Given the description of an element on the screen output the (x, y) to click on. 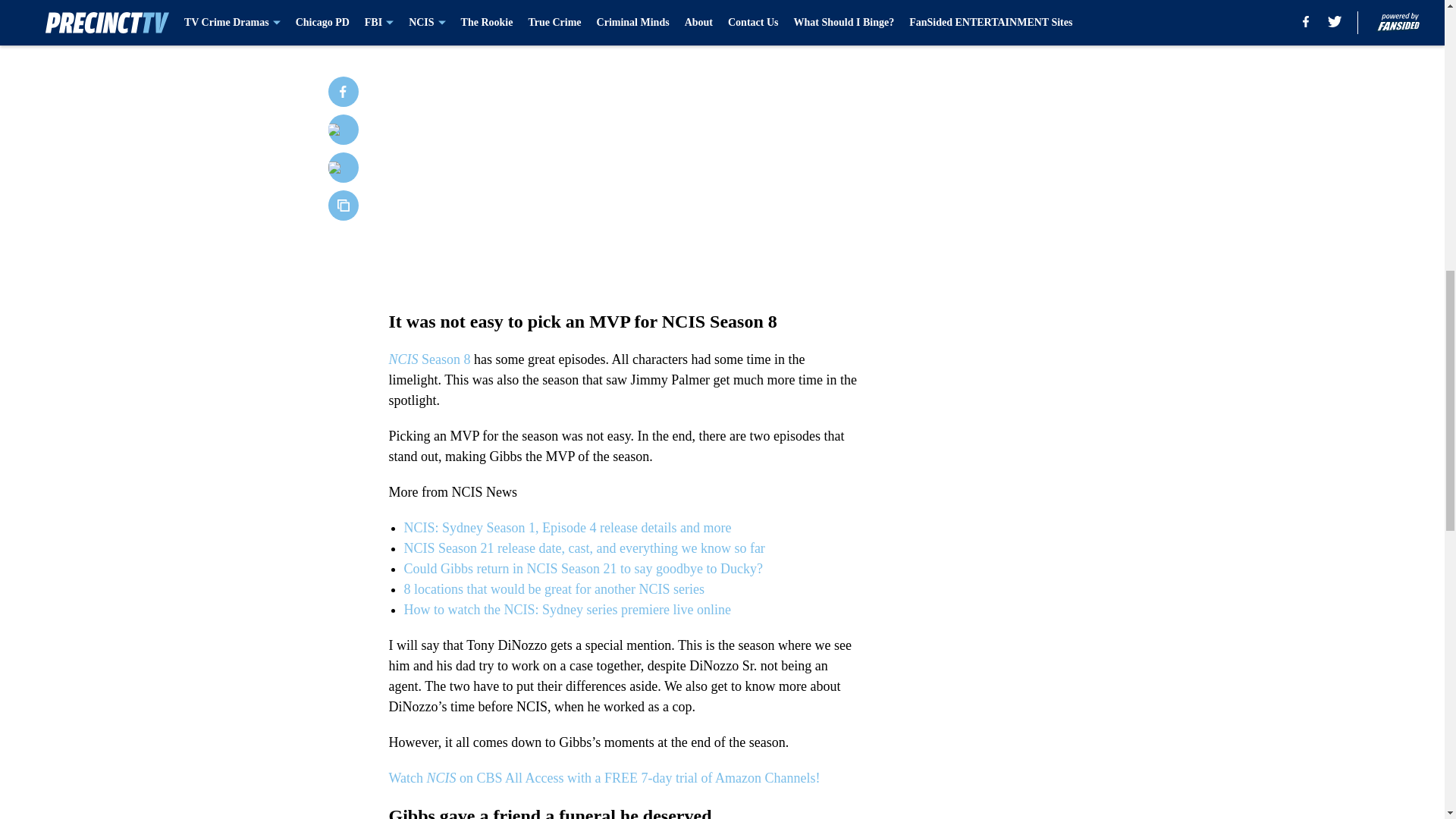
NCIS Season 8 (429, 359)
How to watch the NCIS: Sydney series premiere live online (566, 609)
NCIS: Sydney Season 1, Episode 4 release details and more (566, 527)
8 locations that would be great for another NCIS series (553, 589)
